Given the description of an element on the screen output the (x, y) to click on. 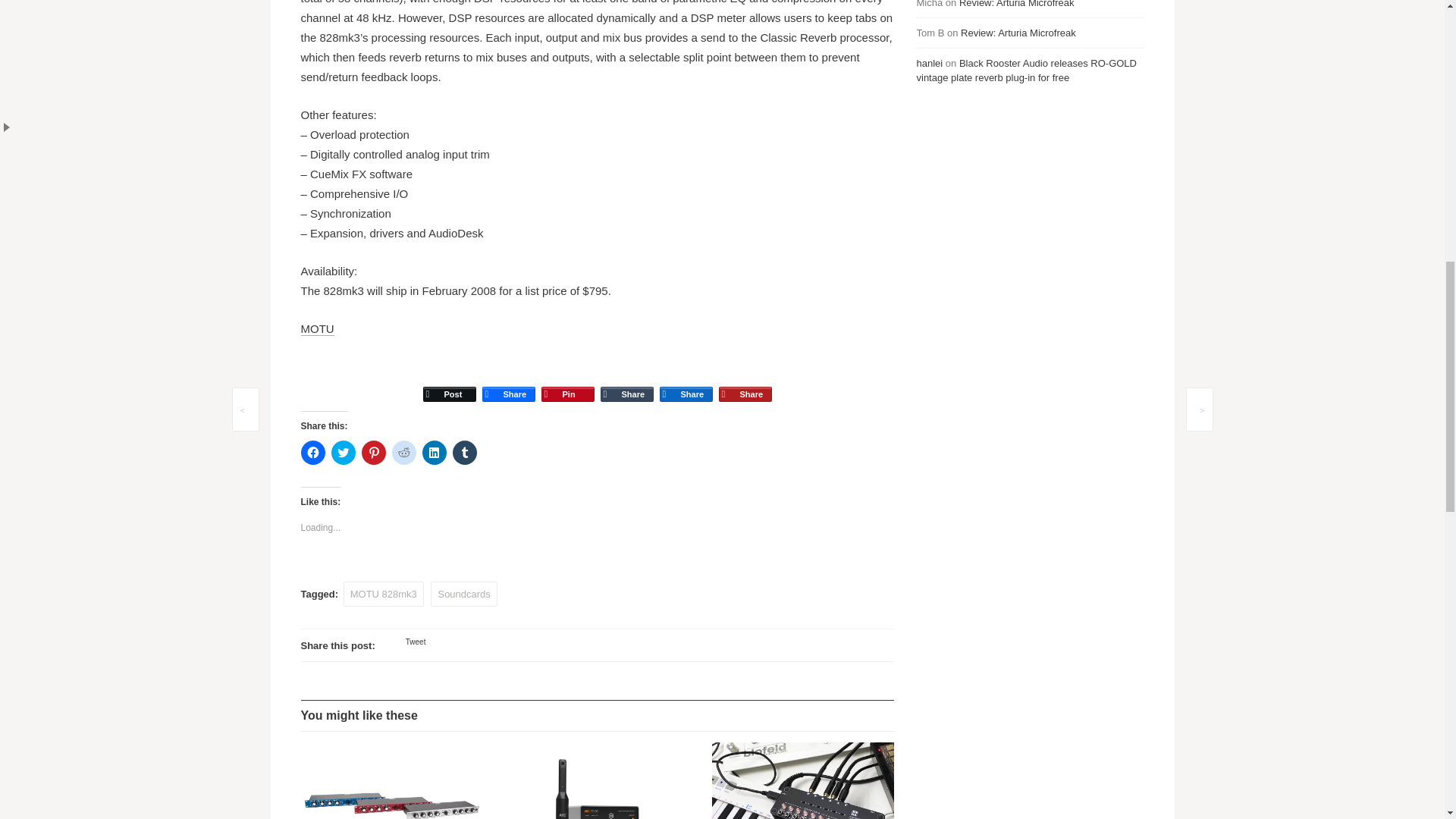
Pinterest (567, 380)
Tumblr (626, 380)
LinkedIn (686, 380)
Click to share on Pinterest (373, 452)
MOTU (316, 328)
Facebook (508, 380)
Click to share on Facebook (311, 452)
Click to share on Twitter (342, 452)
Flipboard (745, 380)
